Given the description of an element on the screen output the (x, y) to click on. 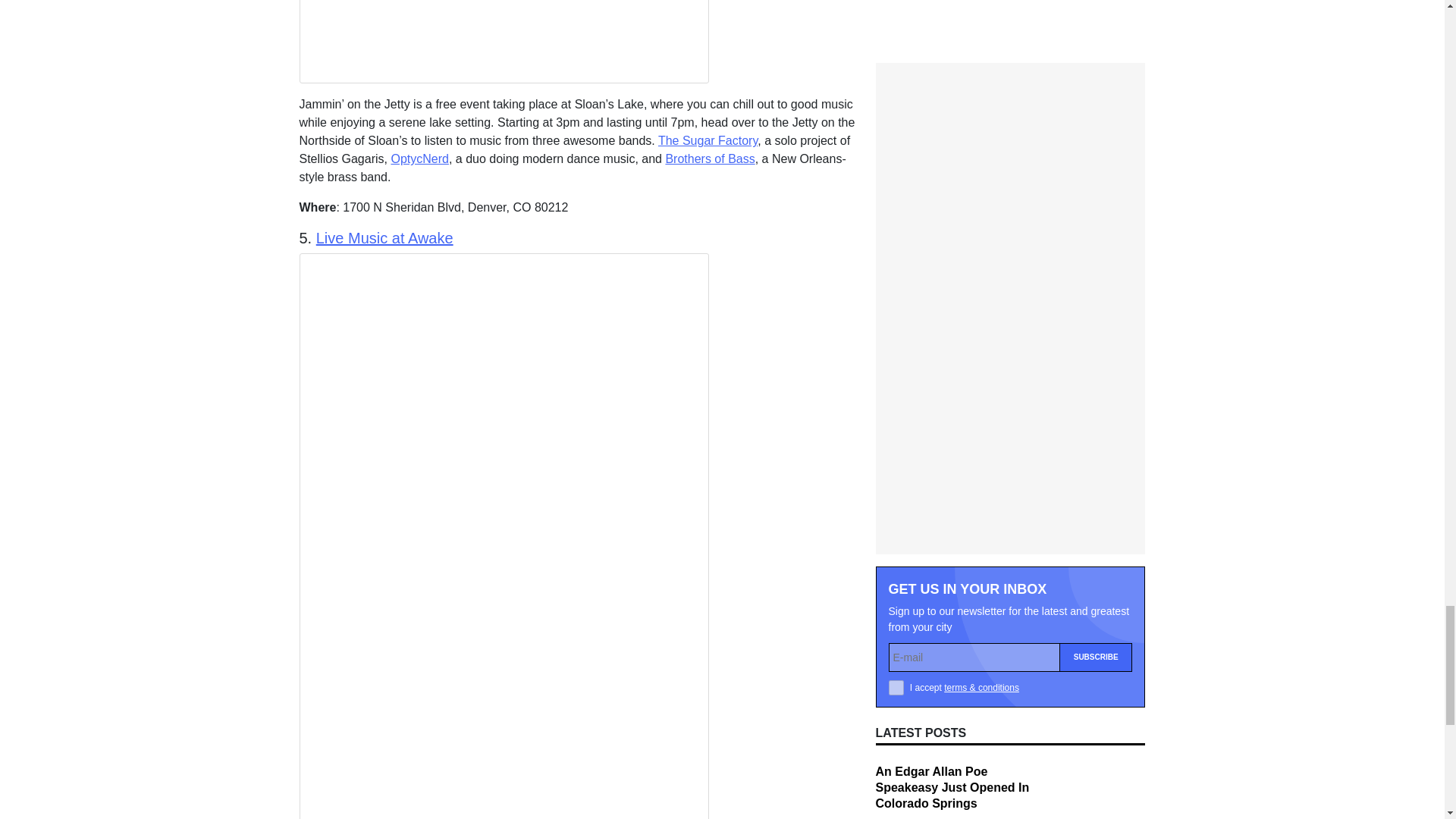
OptycNerd (419, 158)
Live Music at Awake (383, 238)
Brothers of Bass (709, 158)
The Sugar Factory (707, 140)
